Given the description of an element on the screen output the (x, y) to click on. 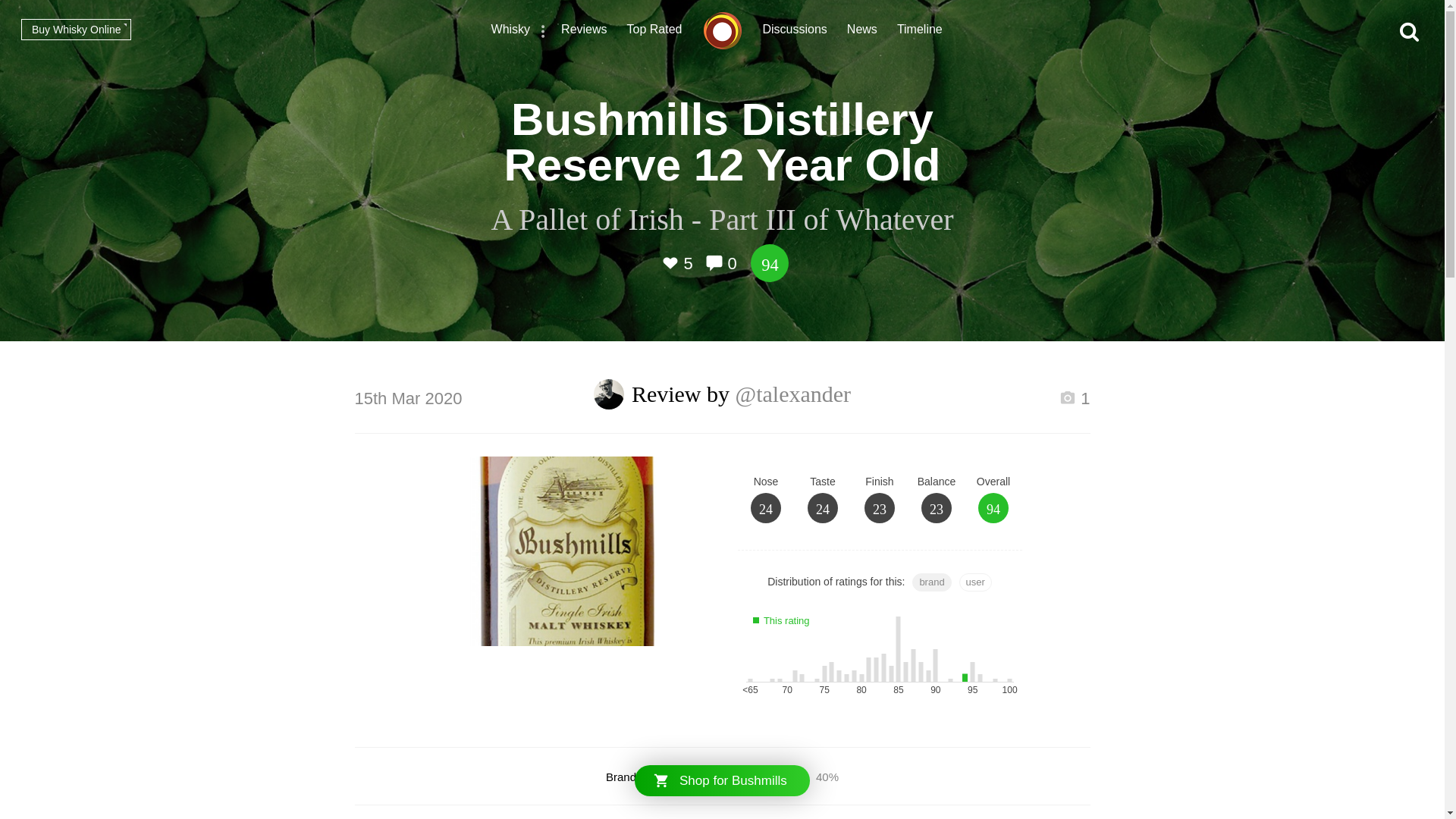
Irish (756, 776)
Recent actvity timeline (919, 31)
News (862, 31)
Whisky discussions (794, 31)
Timeline (919, 31)
CONNOSR. (721, 30)
Top rated whisky (654, 31)
Top Rated (654, 31)
Bushmills (670, 776)
Latest whisky news (862, 31)
Whisky (511, 31)
Whisky reviews (583, 31)
Whisky Connosr (721, 30)
1 (1074, 399)
Reviews (583, 31)
